Given the description of an element on the screen output the (x, y) to click on. 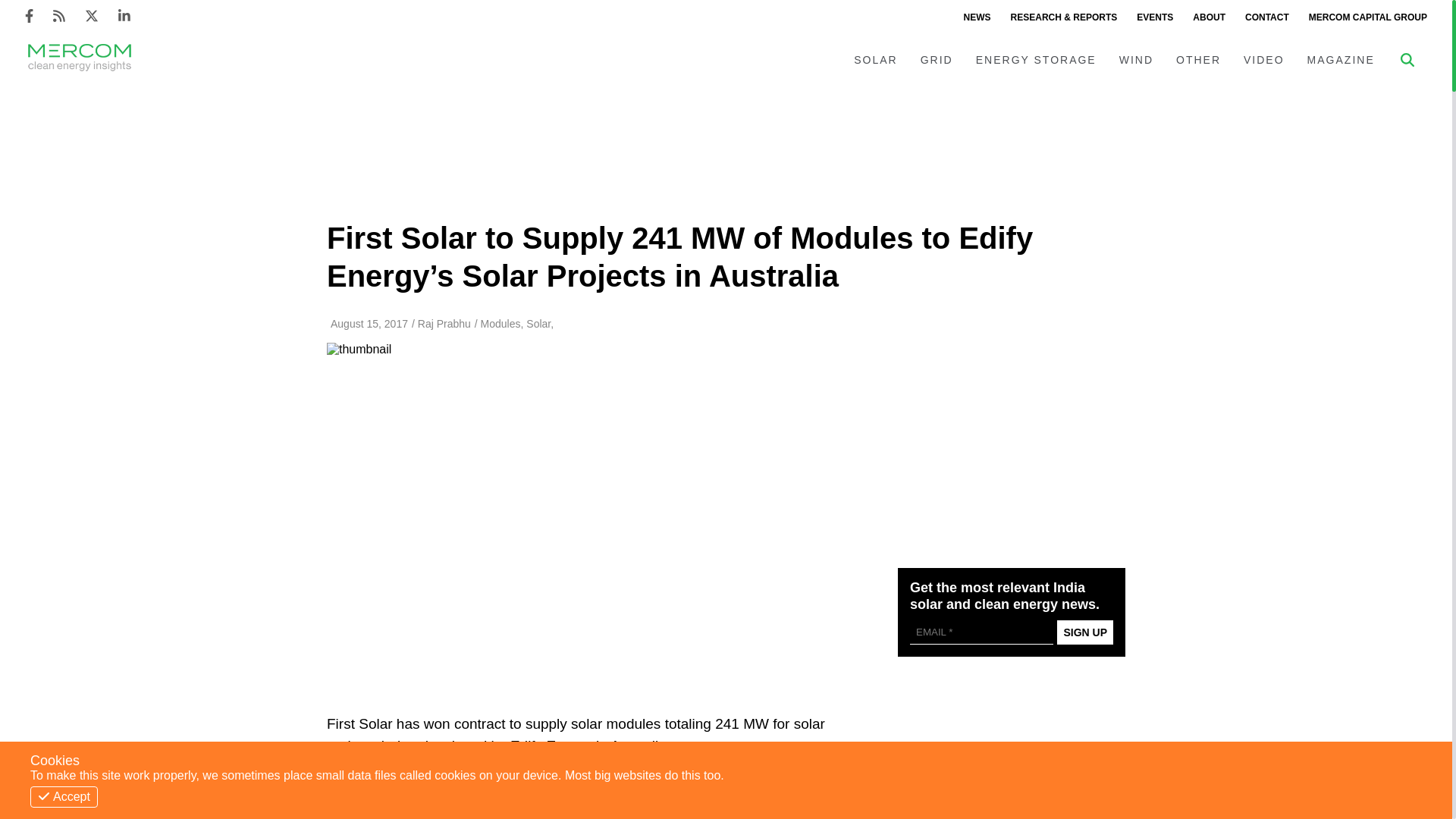
EVENTS (1154, 17)
MERCOM CAPITAL GROUP (1367, 17)
ABOUT (1208, 17)
SOLAR (875, 59)
3rd party ad content (1011, 442)
NEWS (977, 17)
3rd party ad content (1011, 753)
OTHER (1197, 59)
CONTACT (1266, 17)
VIDEO (1263, 59)
GRID (935, 59)
WIND (1136, 59)
3rd party ad content (726, 146)
ENERGY STORAGE (1035, 59)
